Given the description of an element on the screen output the (x, y) to click on. 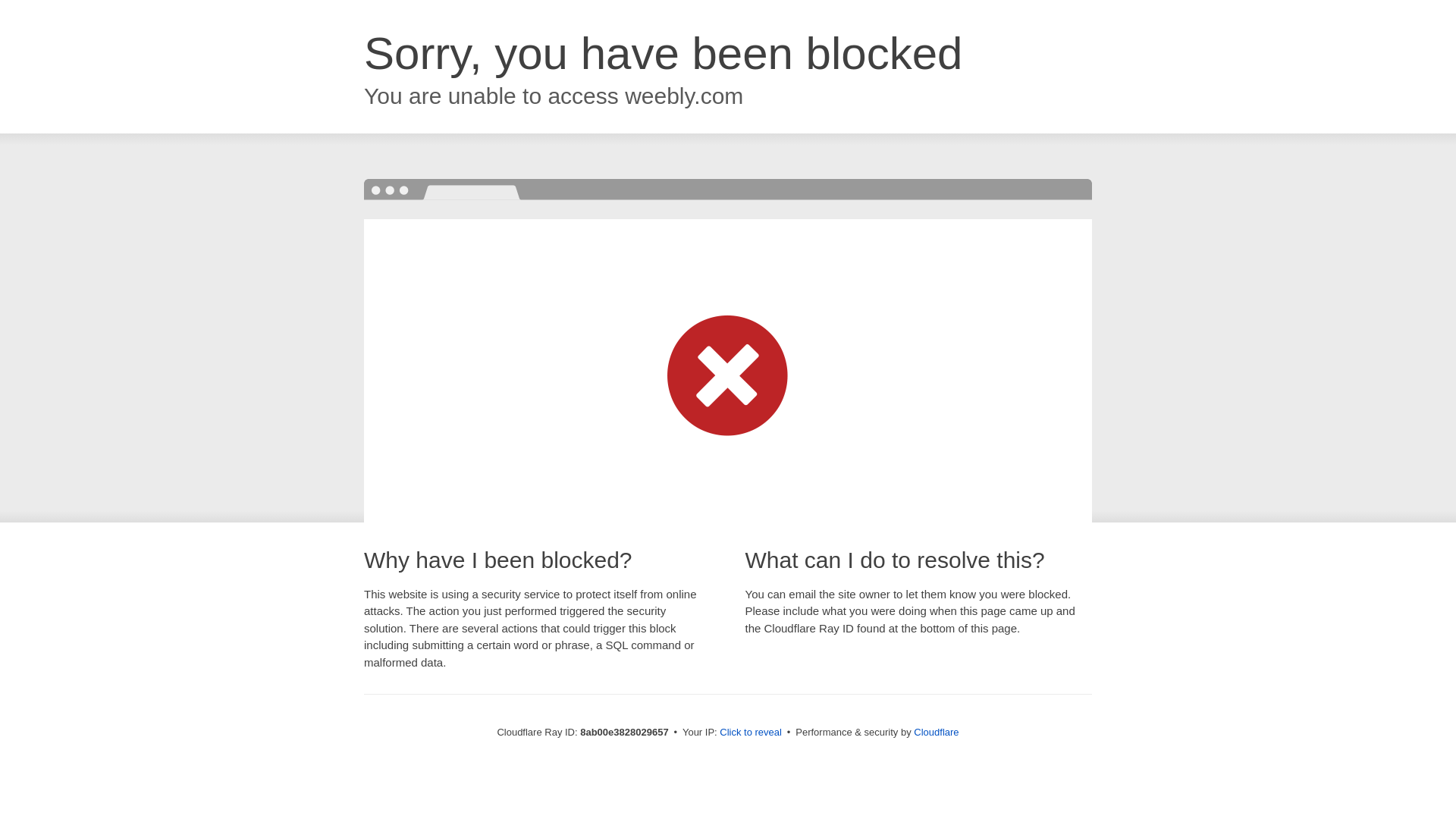
Click to reveal (750, 732)
Cloudflare (936, 731)
